Given the description of an element on the screen output the (x, y) to click on. 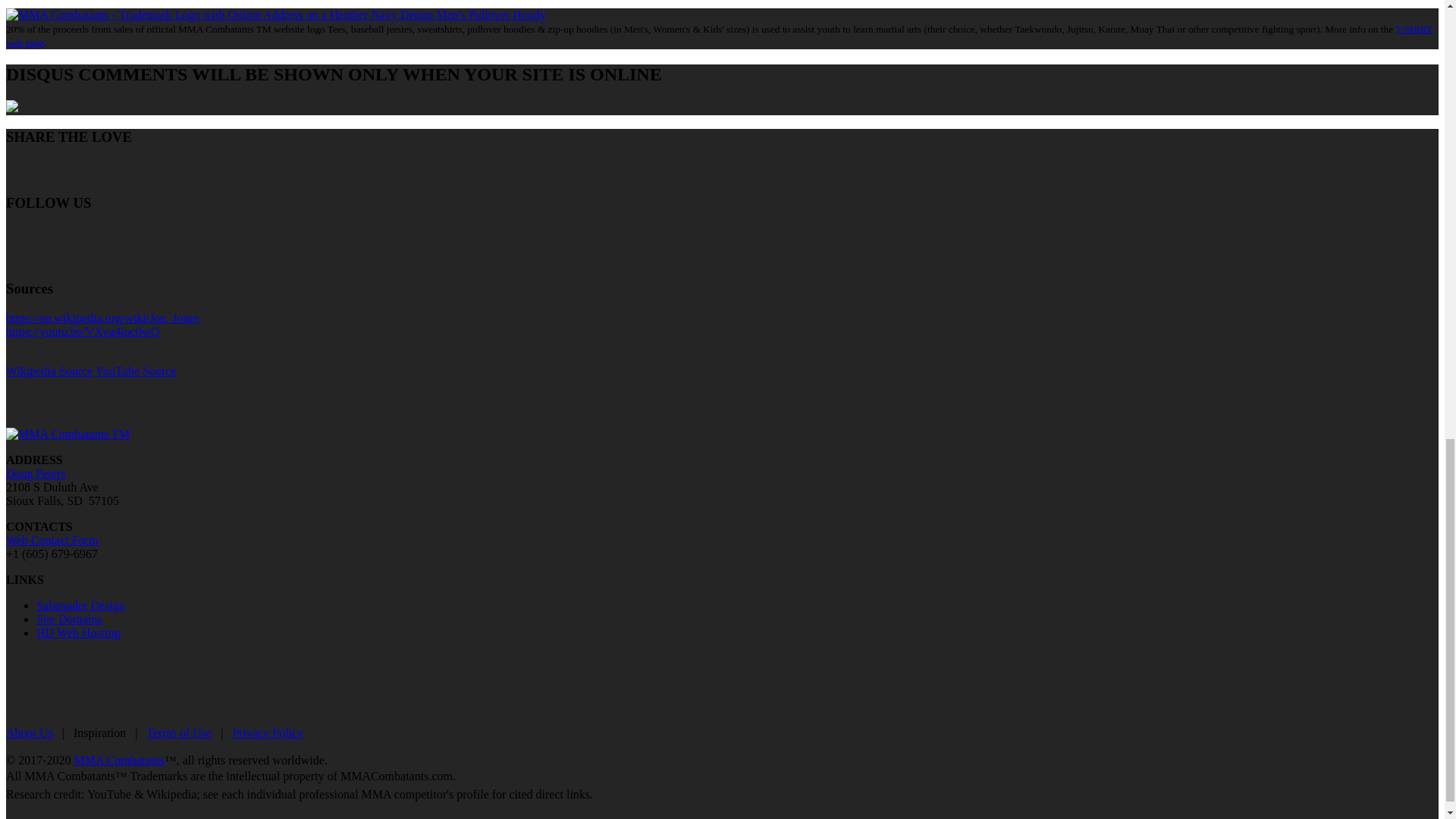
HD Web Hosting (77, 632)
MMA Combatants (119, 759)
Wikipedia Source (49, 370)
MMACombatants.com Website 1st Page (67, 434)
Doug Peters (35, 472)
YouTube Source (136, 370)
Privacy Policy (266, 732)
Site Domains (68, 618)
Web Contact Form (51, 540)
Terms of Use (179, 732)
About Us (28, 732)
Salamader Design (80, 604)
